Given the description of an element on the screen output the (x, y) to click on. 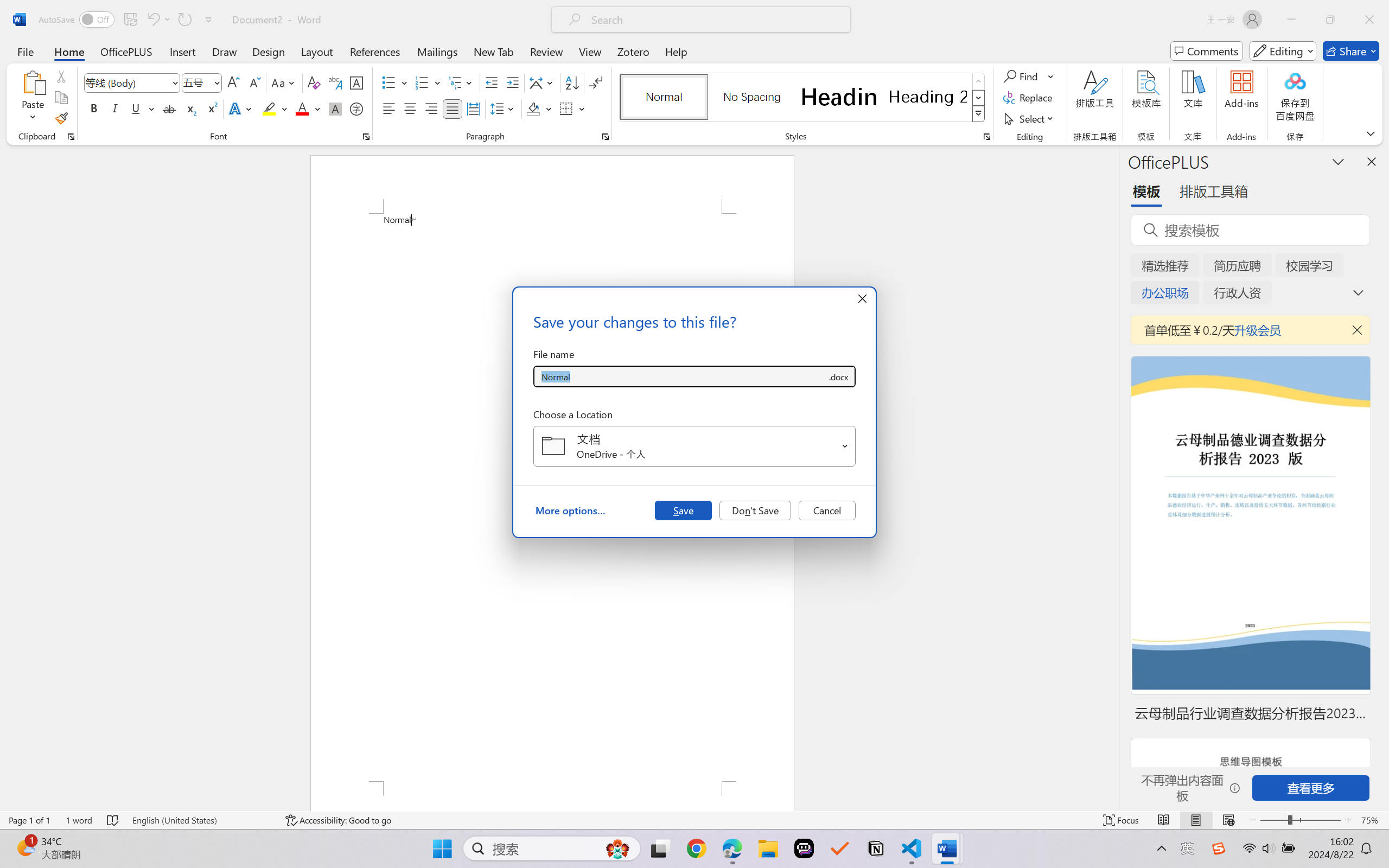
AutomationID: BadgeAnchorLargeTicker (24, 847)
Paste (33, 81)
Undo Apply Quick Style (158, 19)
Find (1029, 75)
Design (268, 51)
Increase Indent (512, 82)
Class: NetUIImage (978, 114)
File name (680, 376)
Office Clipboard... (70, 136)
